Given the description of an element on the screen output the (x, y) to click on. 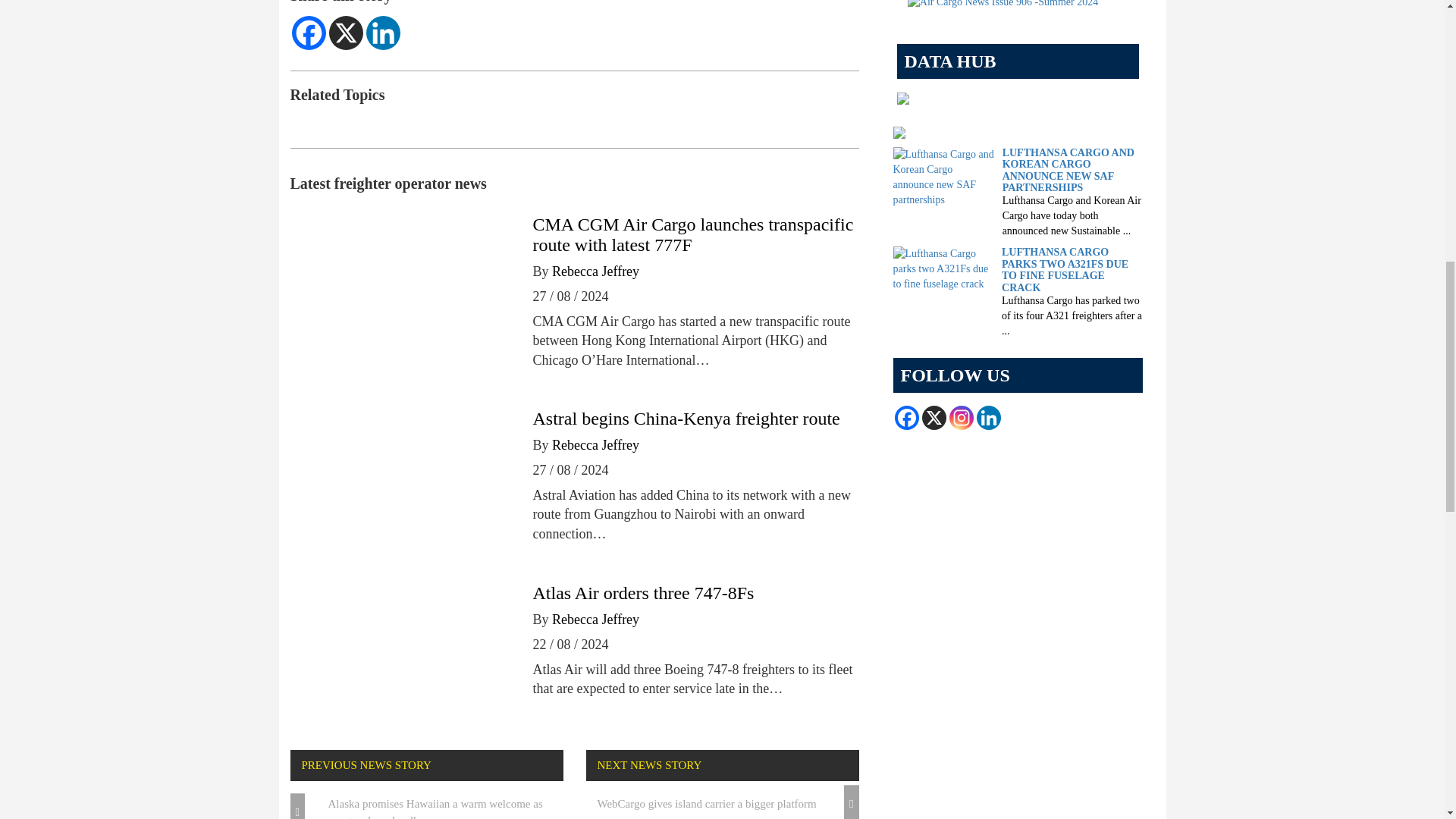
Linkedin (381, 32)
X (345, 32)
Facebook (307, 32)
